Given the description of an element on the screen output the (x, y) to click on. 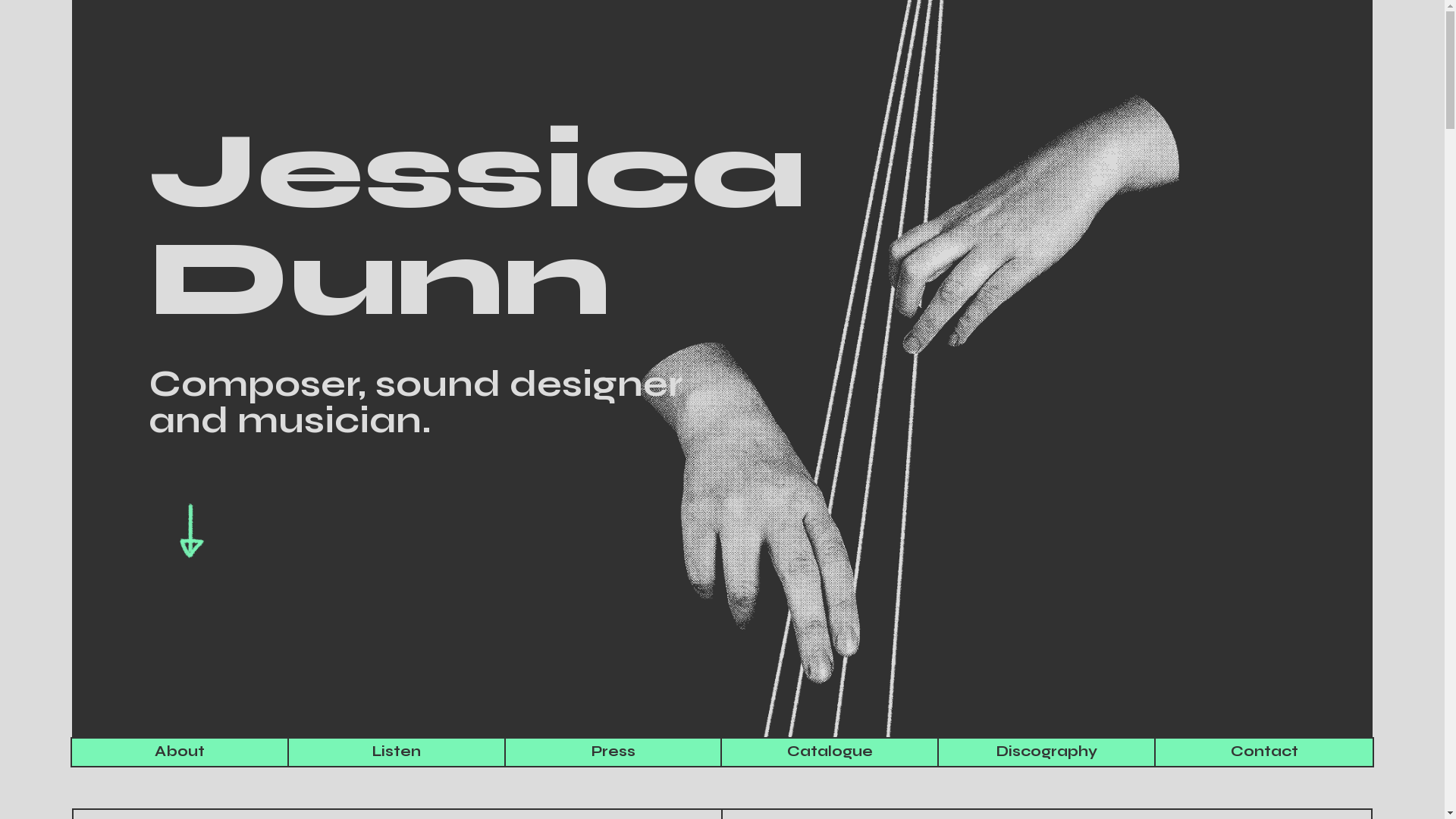
down-arrow2 Element type: hover (191, 531)
